Given the description of an element on the screen output the (x, y) to click on. 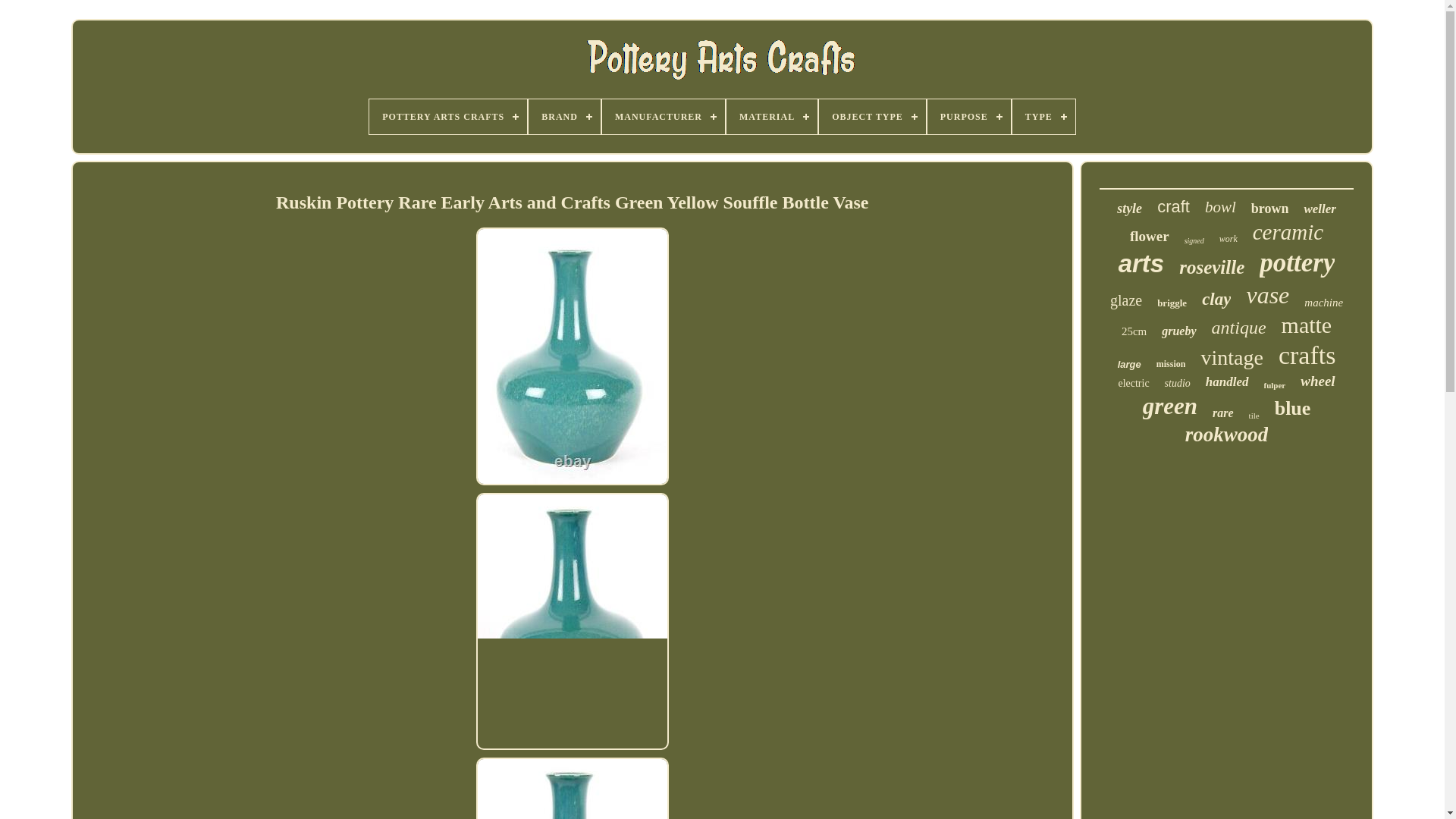
MANUFACTURER (663, 116)
BRAND (563, 116)
POTTERY ARTS CRAFTS (448, 116)
